Given the description of an element on the screen output the (x, y) to click on. 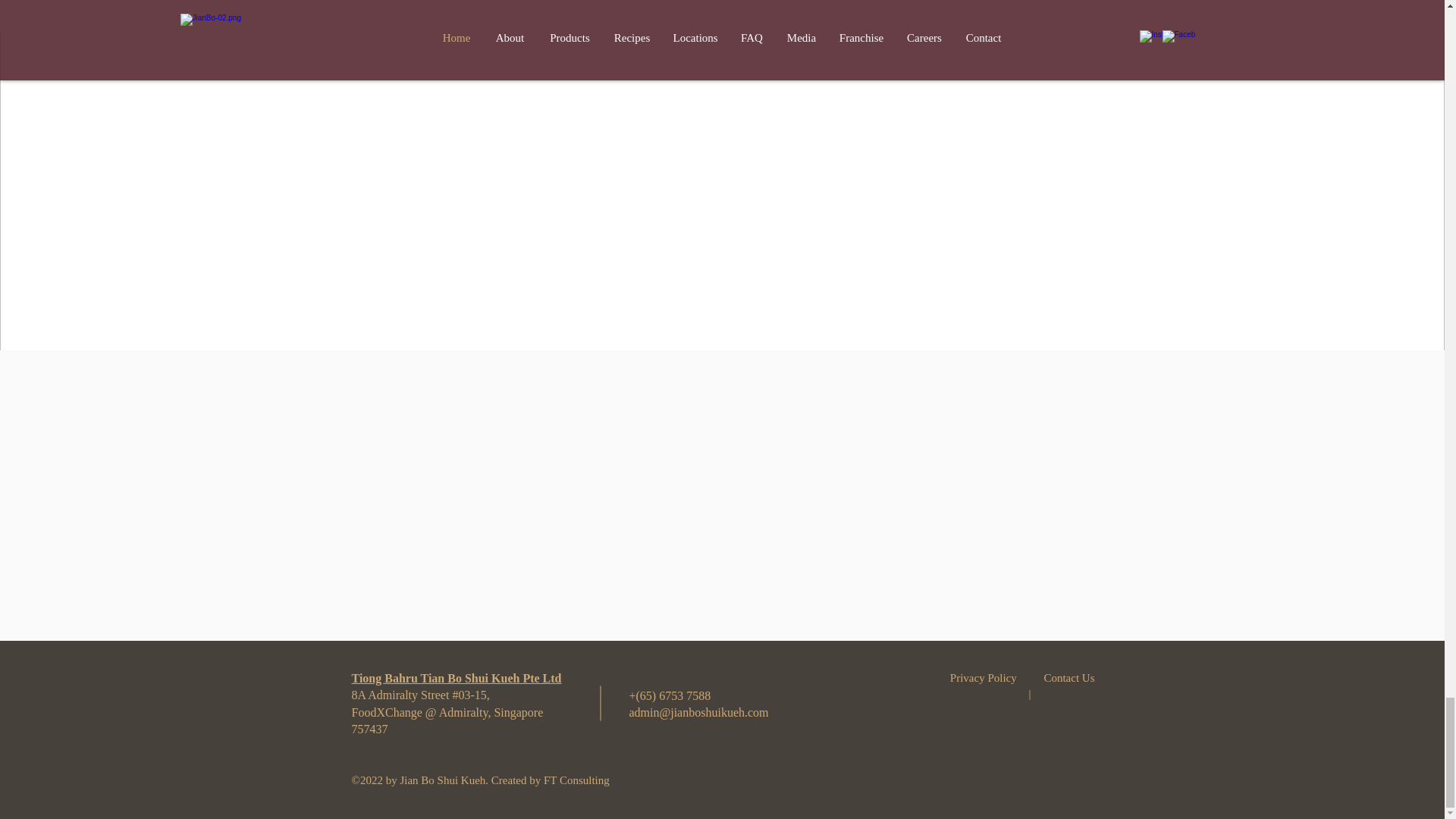
Contact Us (1068, 677)
